Given the description of an element on the screen output the (x, y) to click on. 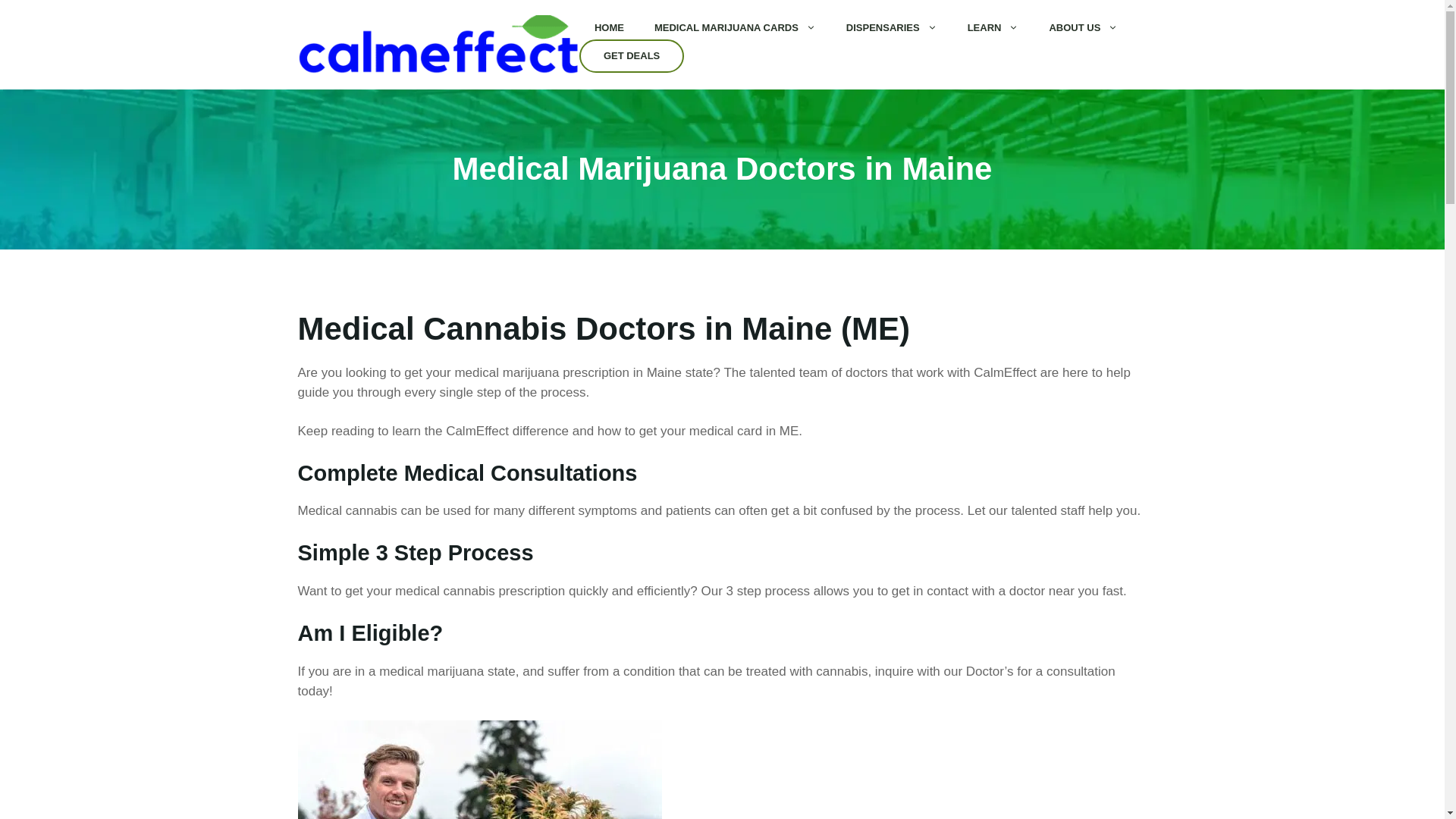
HOME (609, 27)
DISPENSARIES (891, 27)
GET DEALS (631, 55)
ABOUT US (1082, 27)
Adult male physician standing next to cannabis plant (479, 769)
MEDICAL MARIJUANA CARDS (735, 27)
LEARN (992, 27)
